Given the description of an element on the screen output the (x, y) to click on. 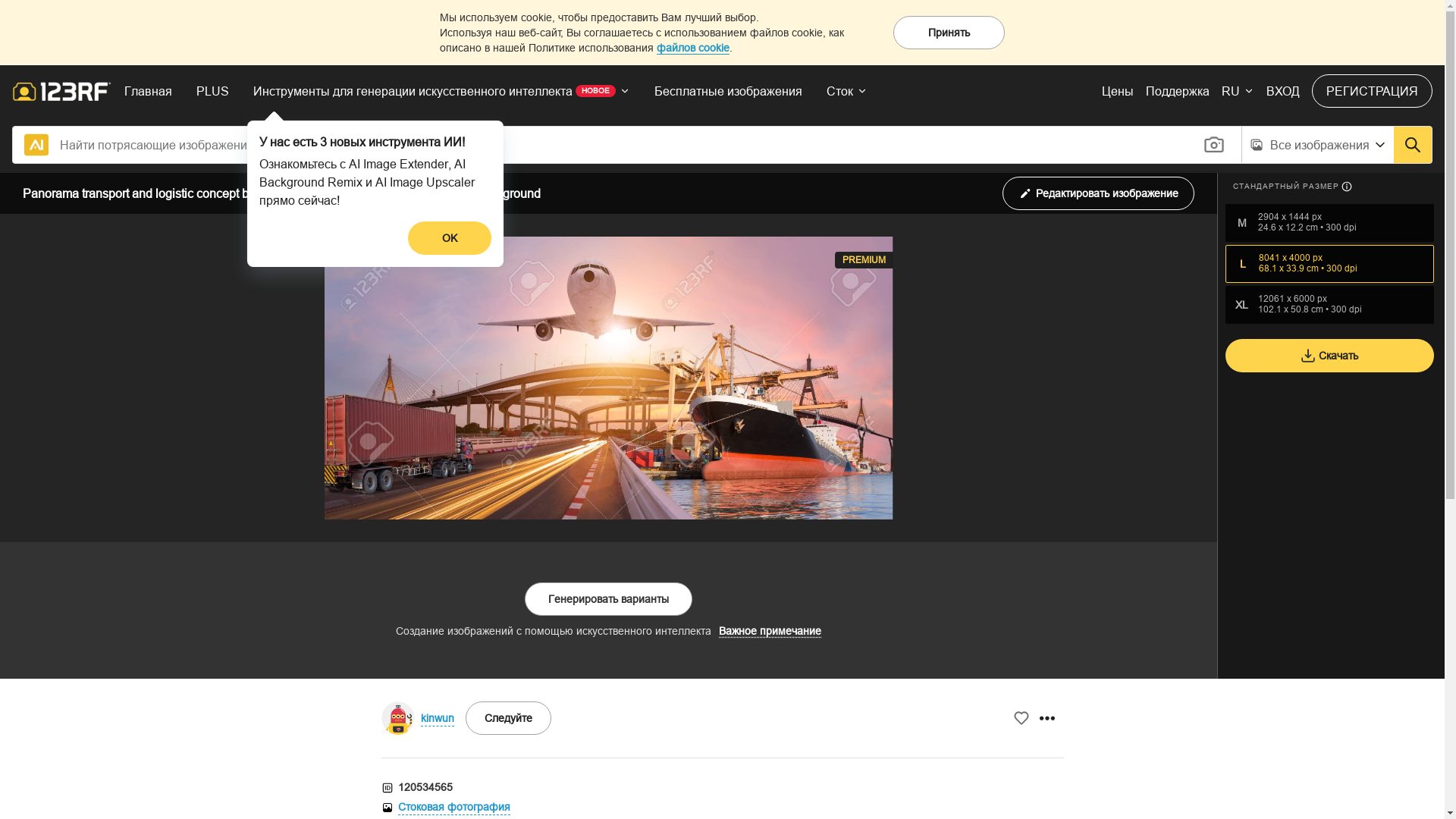
PLUS Element type: text (212, 90)
OK Element type: text (449, 237)
kinwun Element type: text (436, 717)
